Given the description of an element on the screen output the (x, y) to click on. 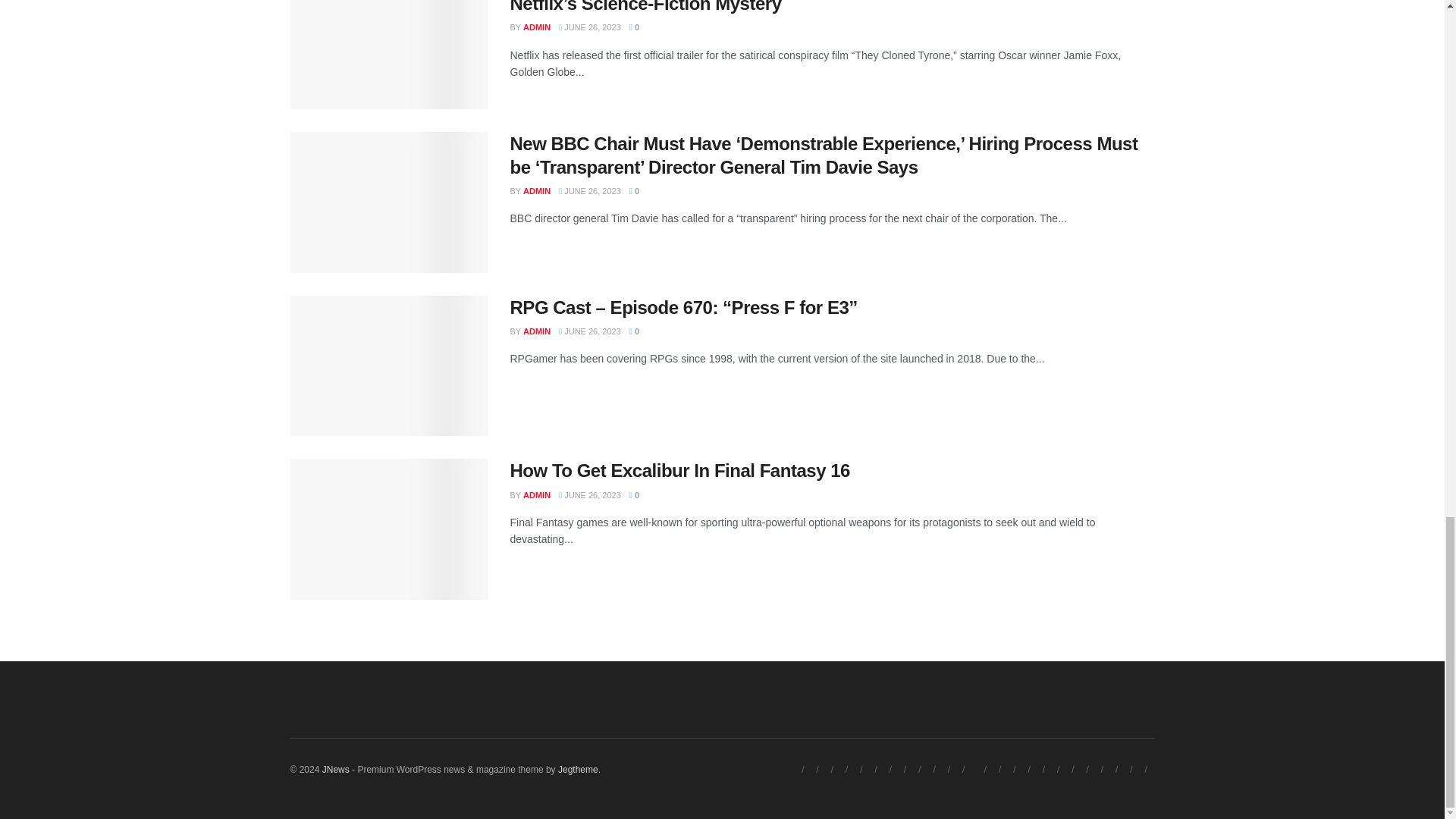
Jegtheme (577, 769)
